Given the description of an element on the screen output the (x, y) to click on. 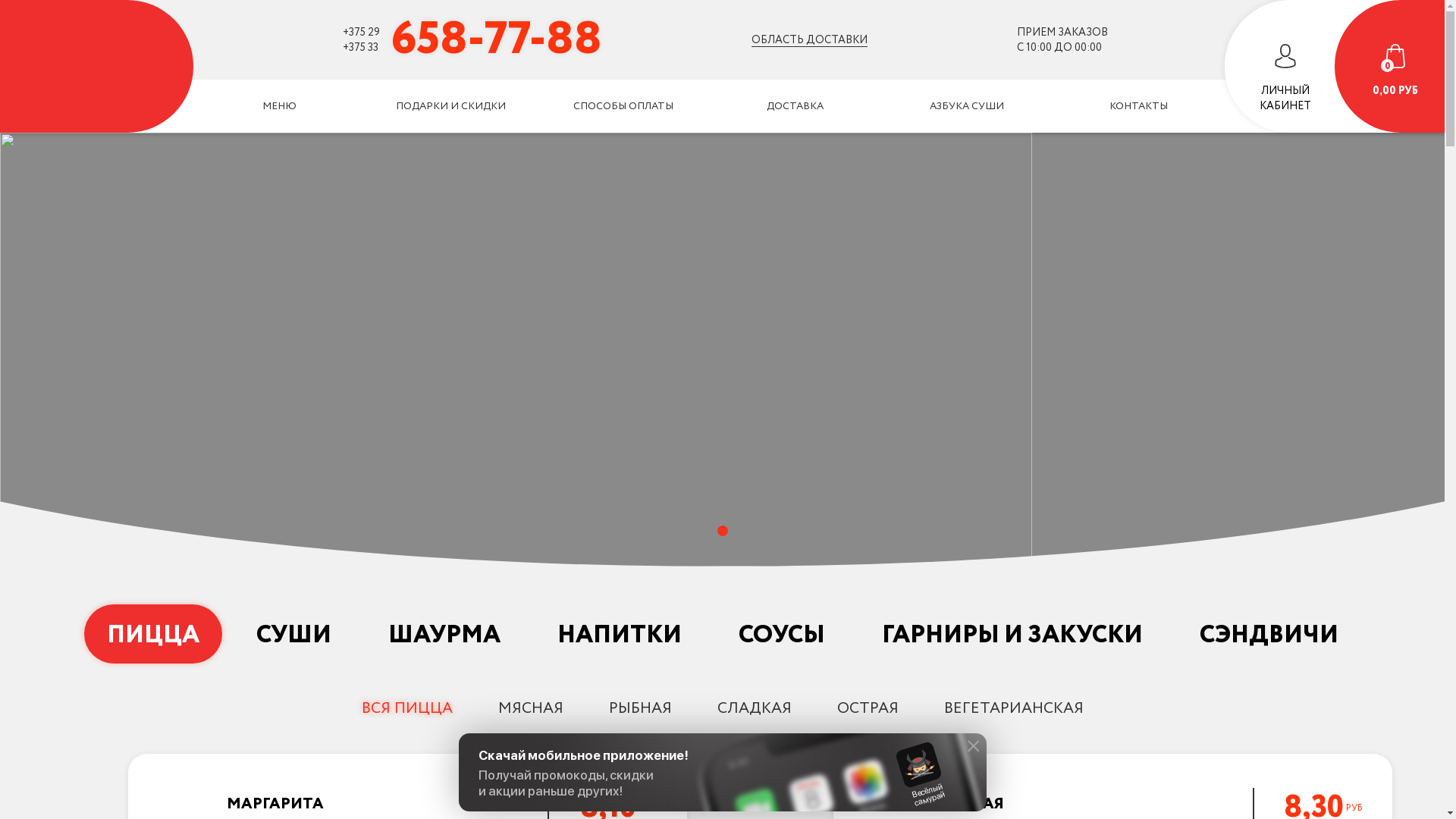
+375 29 Element type: text (360, 31)
658-77-88 Element type: text (496, 39)
+375 33 Element type: text (360, 46)
